Given the description of an element on the screen output the (x, y) to click on. 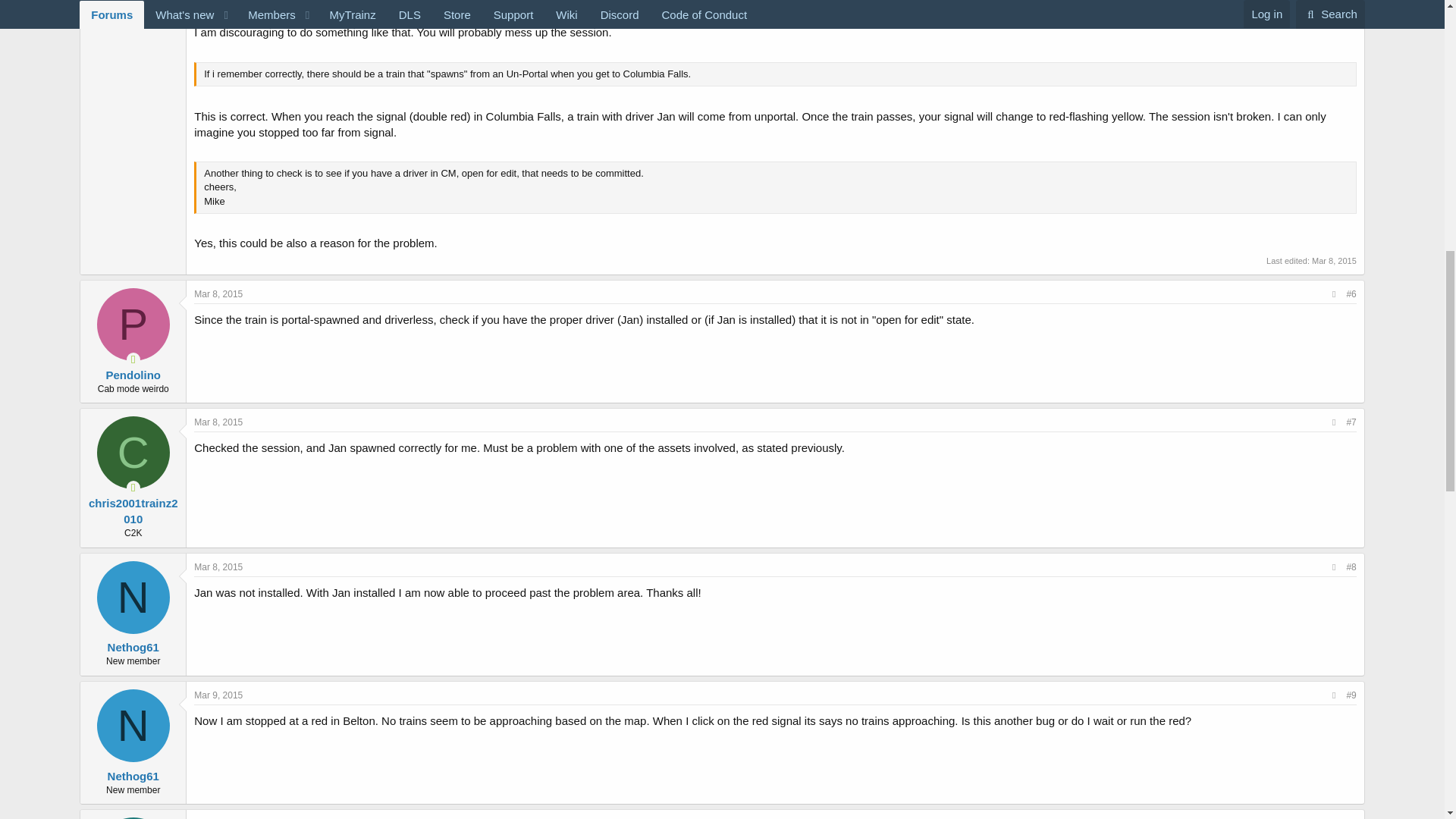
Mar 8, 2015 at 12:40 AM (218, 294)
Mar 8, 2015 at 12:37 AM (1333, 260)
Mar 9, 2015 at 2:34 AM (218, 695)
Mar 9, 2015 at 4:49 AM (218, 818)
Mar 8, 2015 at 12:59 AM (218, 421)
Mar 8, 2015 at 3:34 AM (218, 566)
